Given the description of an element on the screen output the (x, y) to click on. 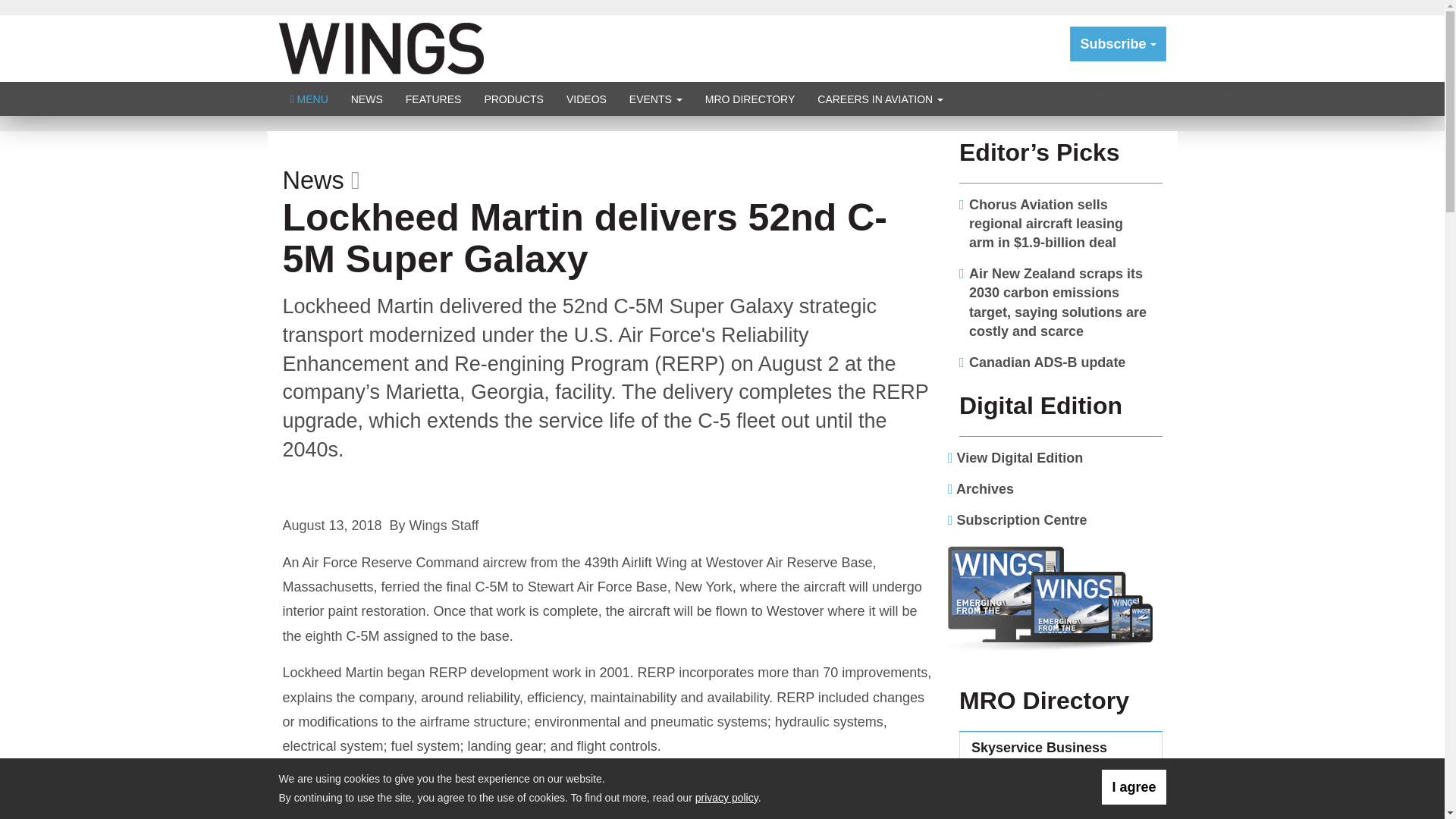
FEATURES (433, 98)
VIDEOS (585, 98)
NEWS (366, 98)
PRODUCTS (512, 98)
MENU (309, 98)
MRO DIRECTORY (750, 98)
Click to show site navigation (309, 98)
EVENTS (655, 98)
CAREERS IN AVIATION (880, 98)
Wings Magazine (381, 47)
Subscribe (1118, 43)
